Given the description of an element on the screen output the (x, y) to click on. 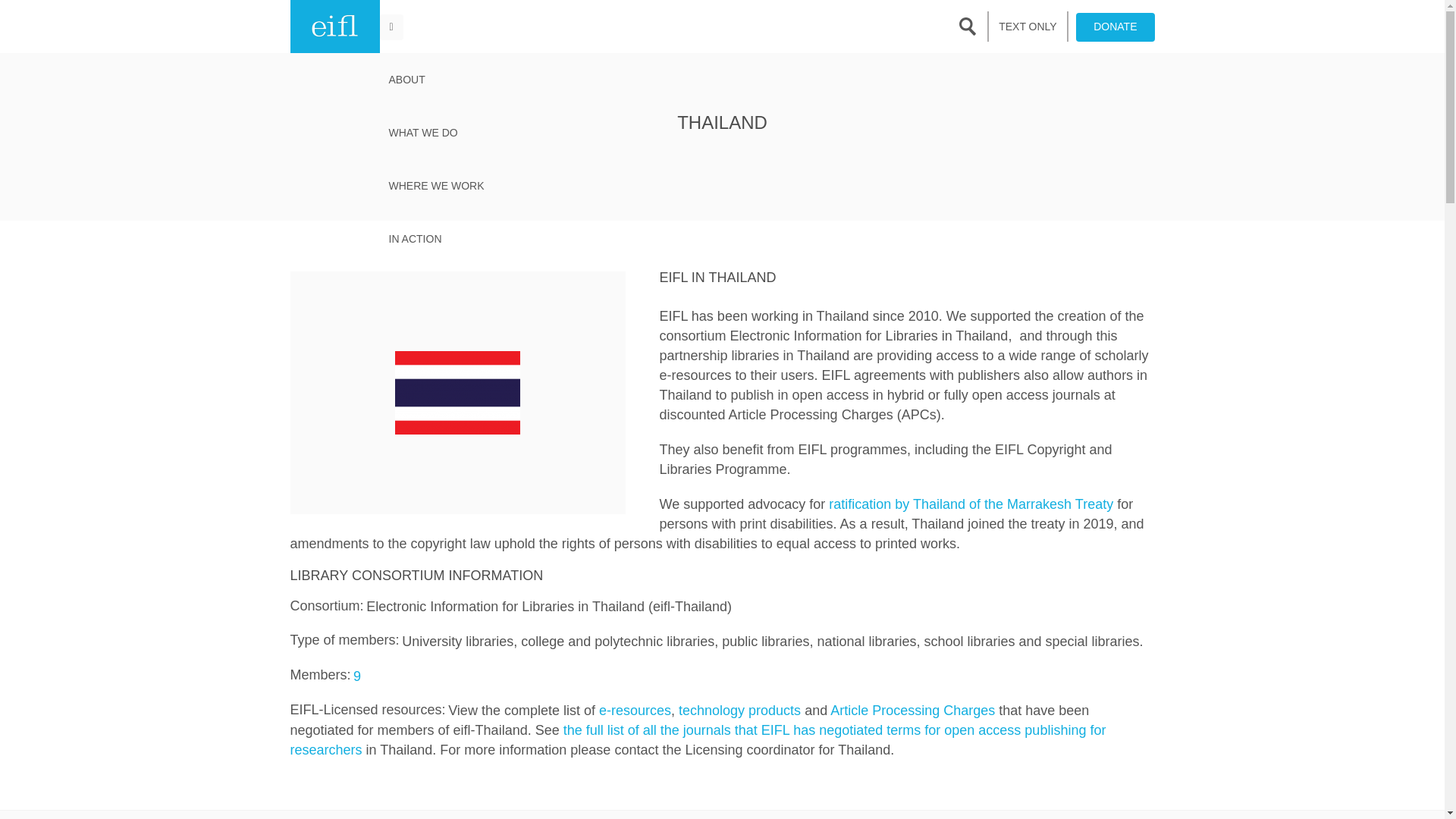
ABOUT (435, 79)
WHAT WE DO (435, 132)
Home (333, 26)
